Given the description of an element on the screen output the (x, y) to click on. 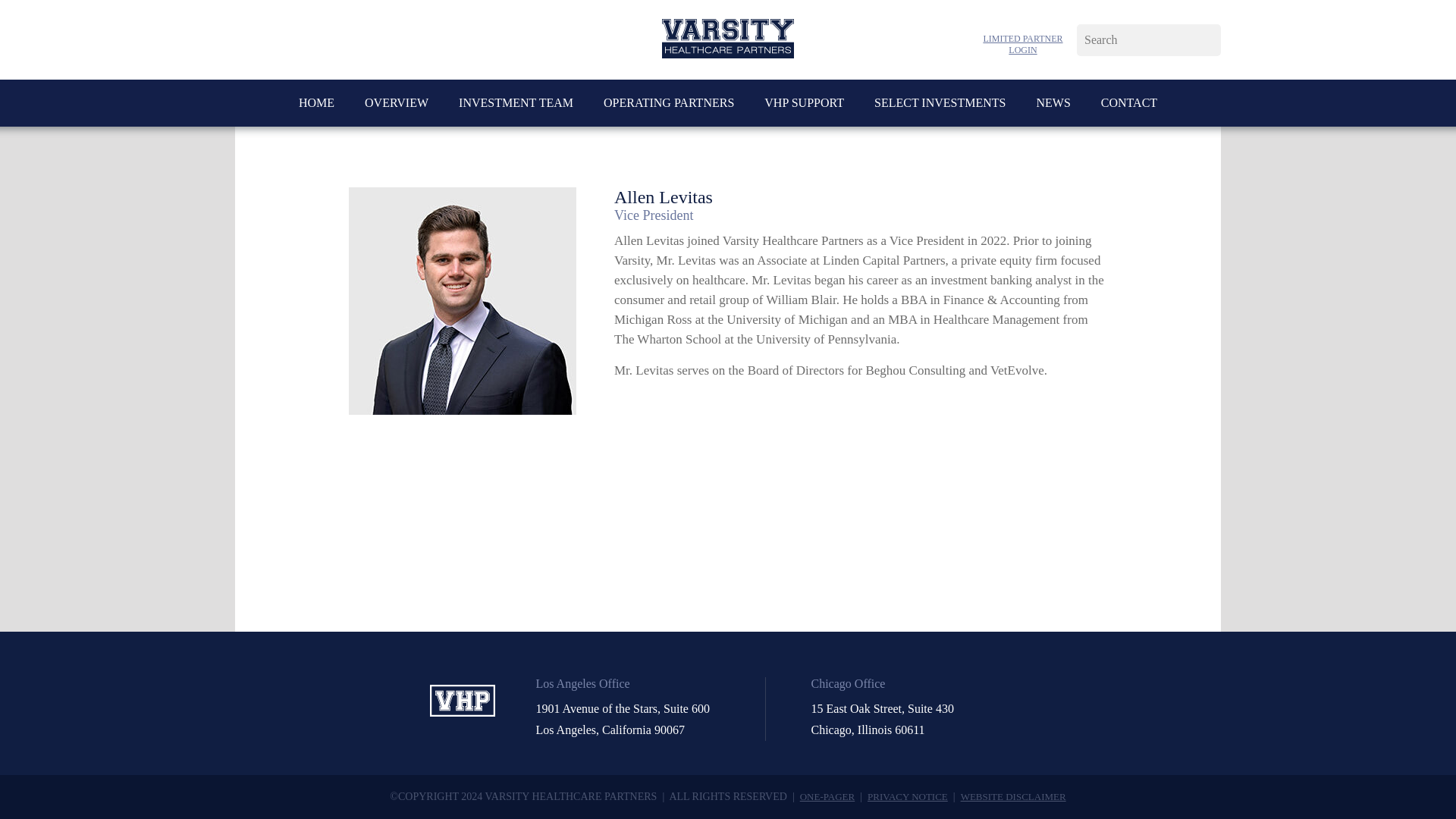
OVERVIEW (396, 102)
OPERATING PARTNERS (668, 102)
SELECT INVESTMENTS (940, 102)
PRIVACY NOTICE (907, 796)
Allen Levitas (860, 197)
CONTACT (1128, 102)
VHP SUPPORT (804, 102)
WEBSITE DISCLAIMER (1012, 796)
LIMITED PARTNER LOGIN (1022, 44)
ONE-PAGER (826, 796)
INVESTMENT TEAM (515, 102)
